Given the description of an element on the screen output the (x, y) to click on. 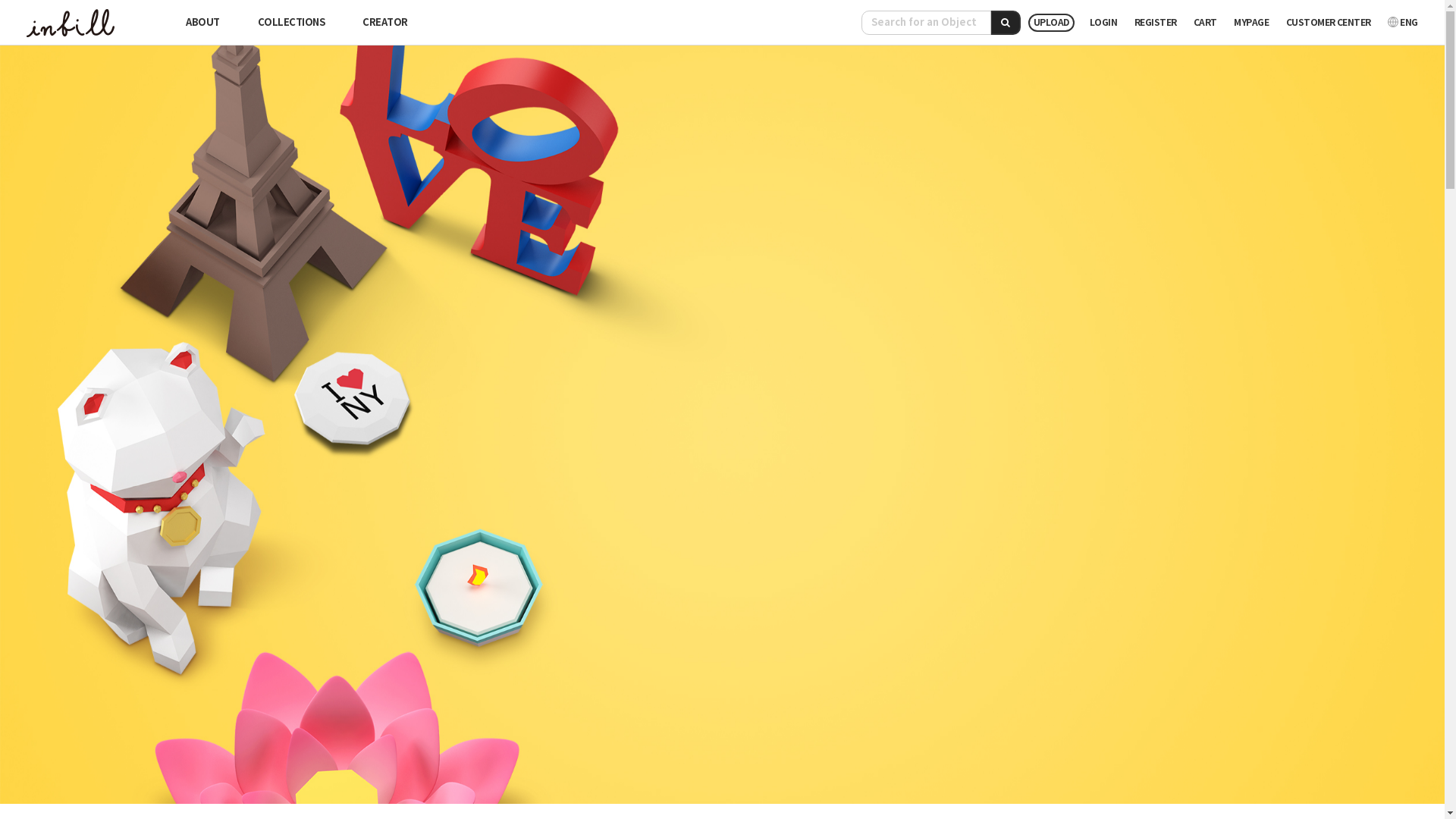
CREATOR Element type: text (384, 22)
REGISTER Element type: text (1155, 22)
LOGIN Element type: text (1103, 22)
CUSTOMER
CENTER Element type: text (1328, 22)
MYPAGE Element type: text (1250, 22)
ENG Element type: text (1402, 22)
UPLOAD Element type: text (1051, 22)
COLLECTIONS Element type: text (291, 22)
CART Element type: text (1205, 22)
ABOUT Element type: text (202, 22)
